Given the description of an element on the screen output the (x, y) to click on. 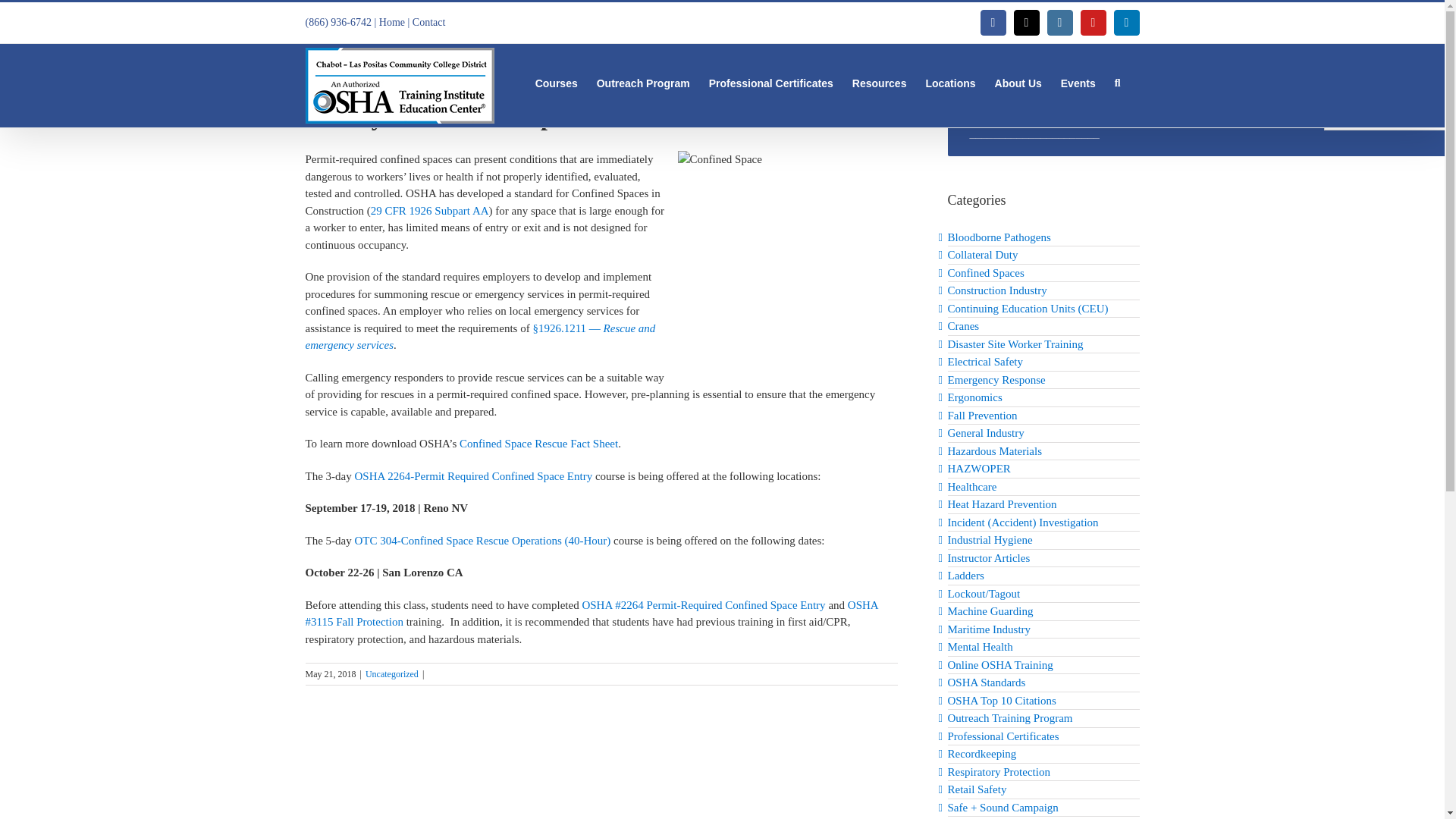
Contact (428, 21)
Home (391, 21)
LinkedIn (1126, 22)
Outreach Program (643, 81)
Resources (879, 81)
X (1026, 22)
Instagram (1059, 22)
Facebook (992, 22)
Locations (949, 81)
X (1026, 22)
